Given the description of an element on the screen output the (x, y) to click on. 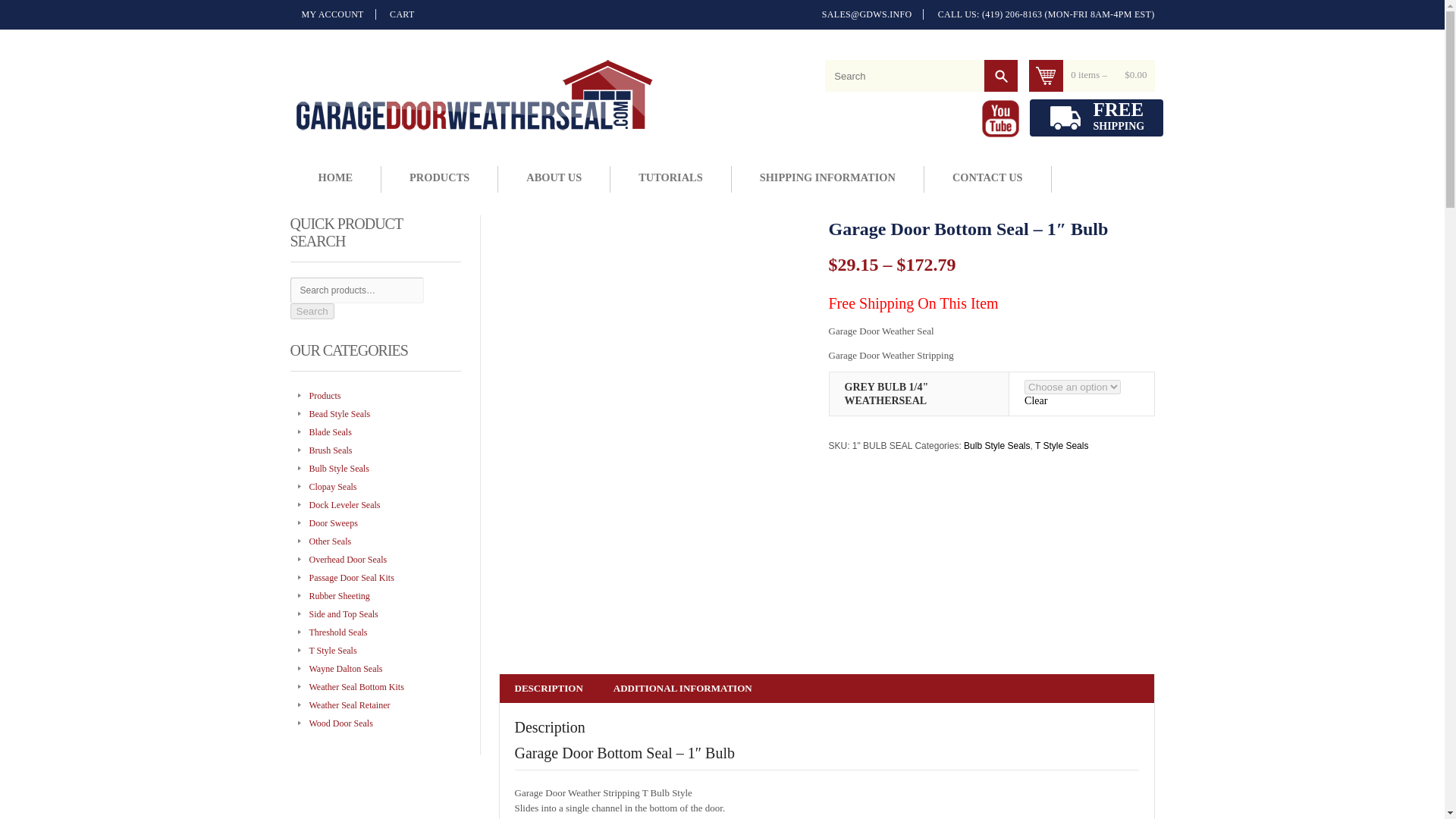
Search (1000, 75)
ABOUT US (553, 179)
SHIPPING INFORMATION (827, 179)
CART (1096, 117)
MY ACCOUNT (395, 14)
Garage Door Weather Seal (332, 14)
TUTORIALS (473, 94)
CONTACT US (670, 179)
View your shopping cart (987, 179)
Search (1108, 75)
PRODUCTS (1000, 75)
HOME (439, 179)
